Given the description of an element on the screen output the (x, y) to click on. 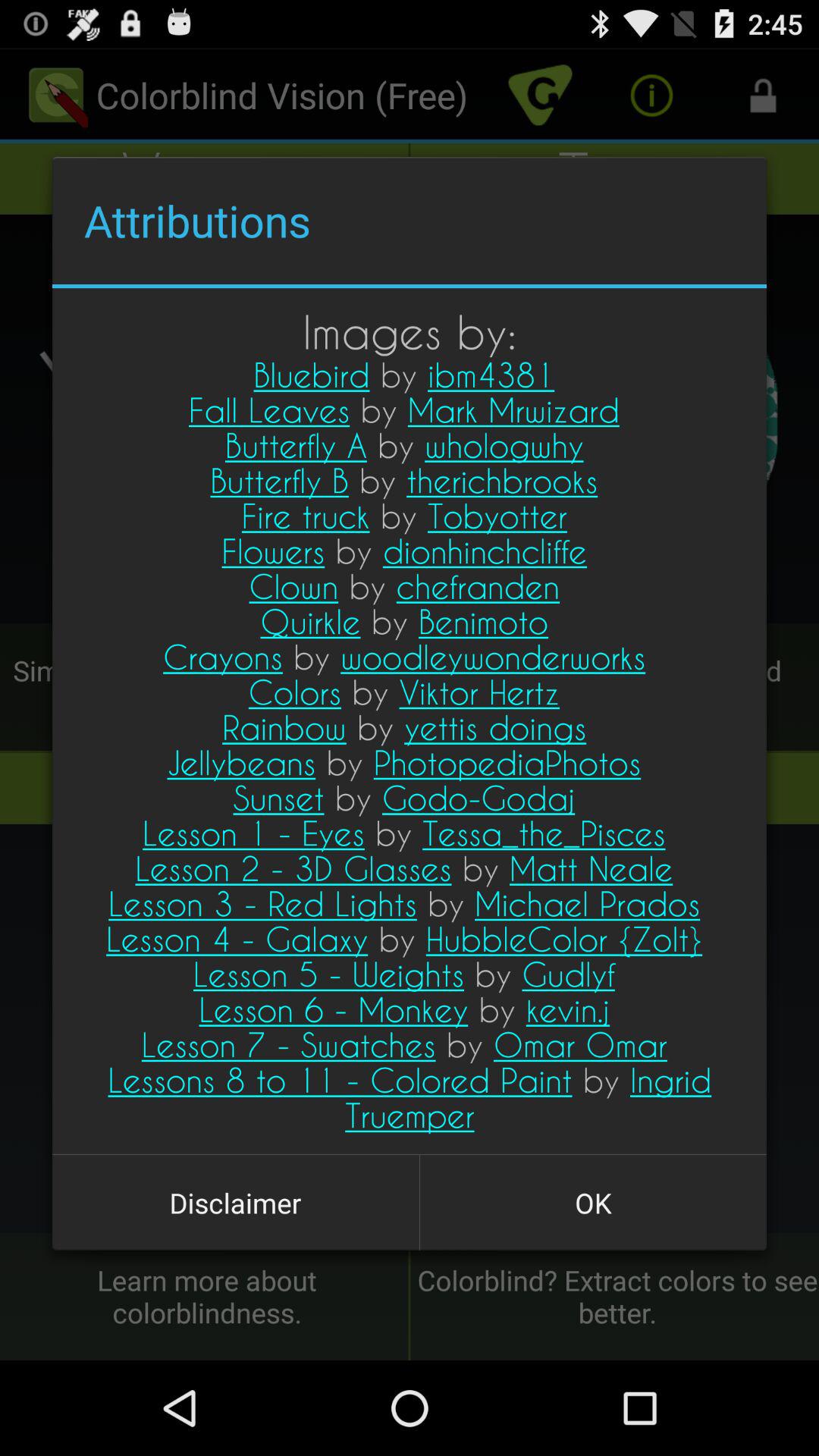
choose the icon to the right of the disclaimer (593, 1202)
